Given the description of an element on the screen output the (x, y) to click on. 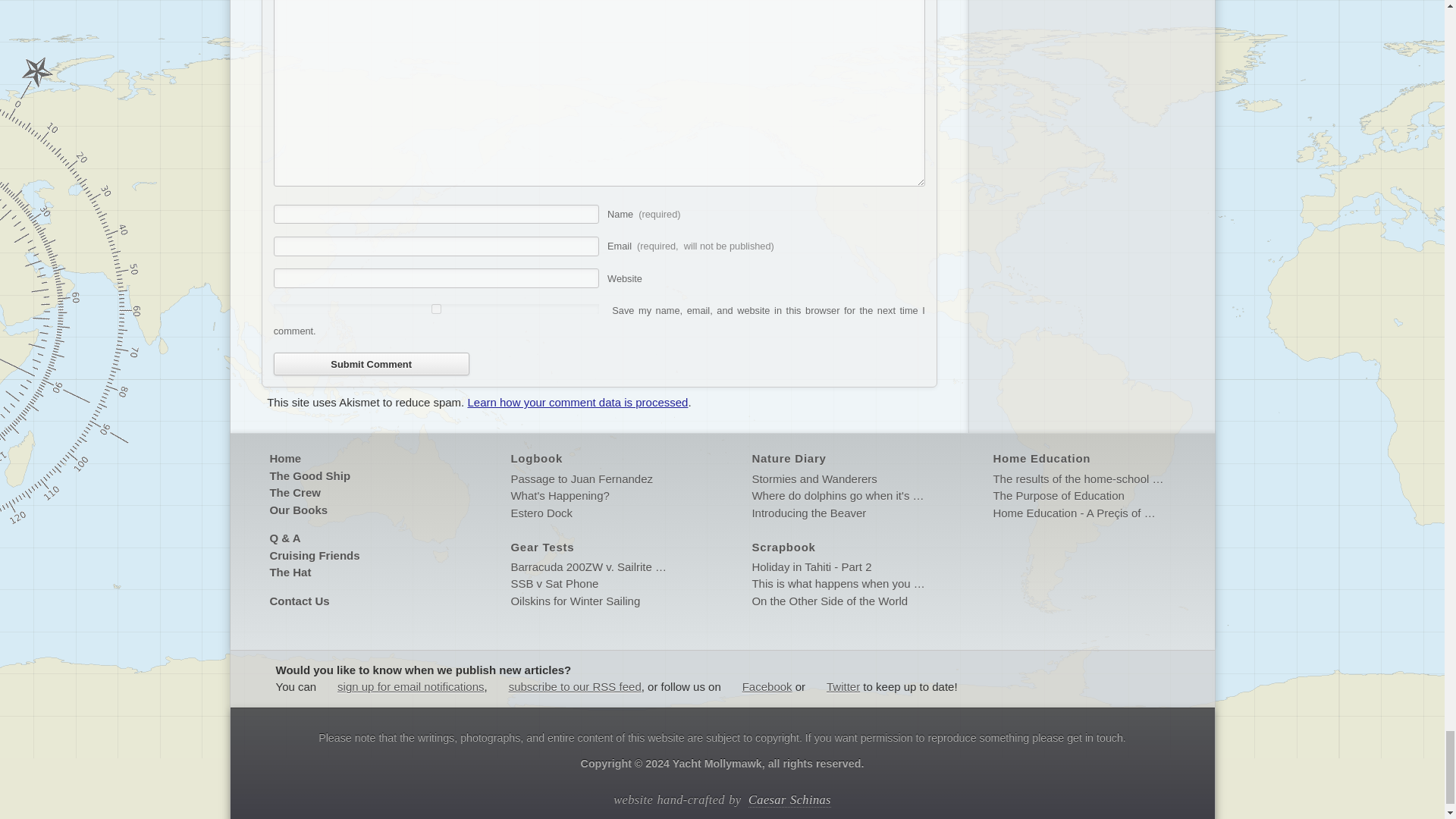
Submit Comment (370, 363)
yes (436, 308)
